Given the description of an element on the screen output the (x, y) to click on. 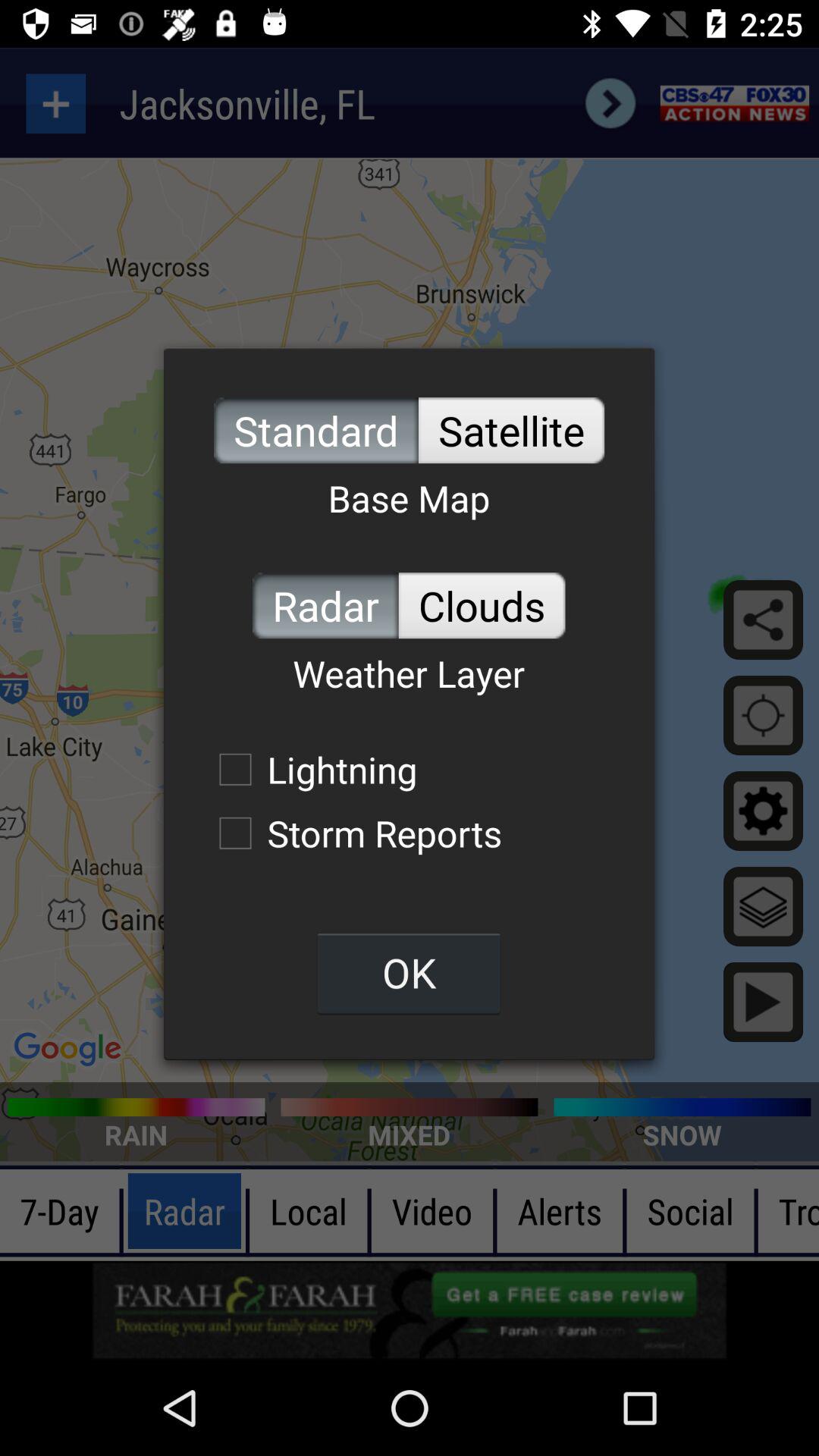
press ok item (408, 972)
